Given the description of an element on the screen output the (x, y) to click on. 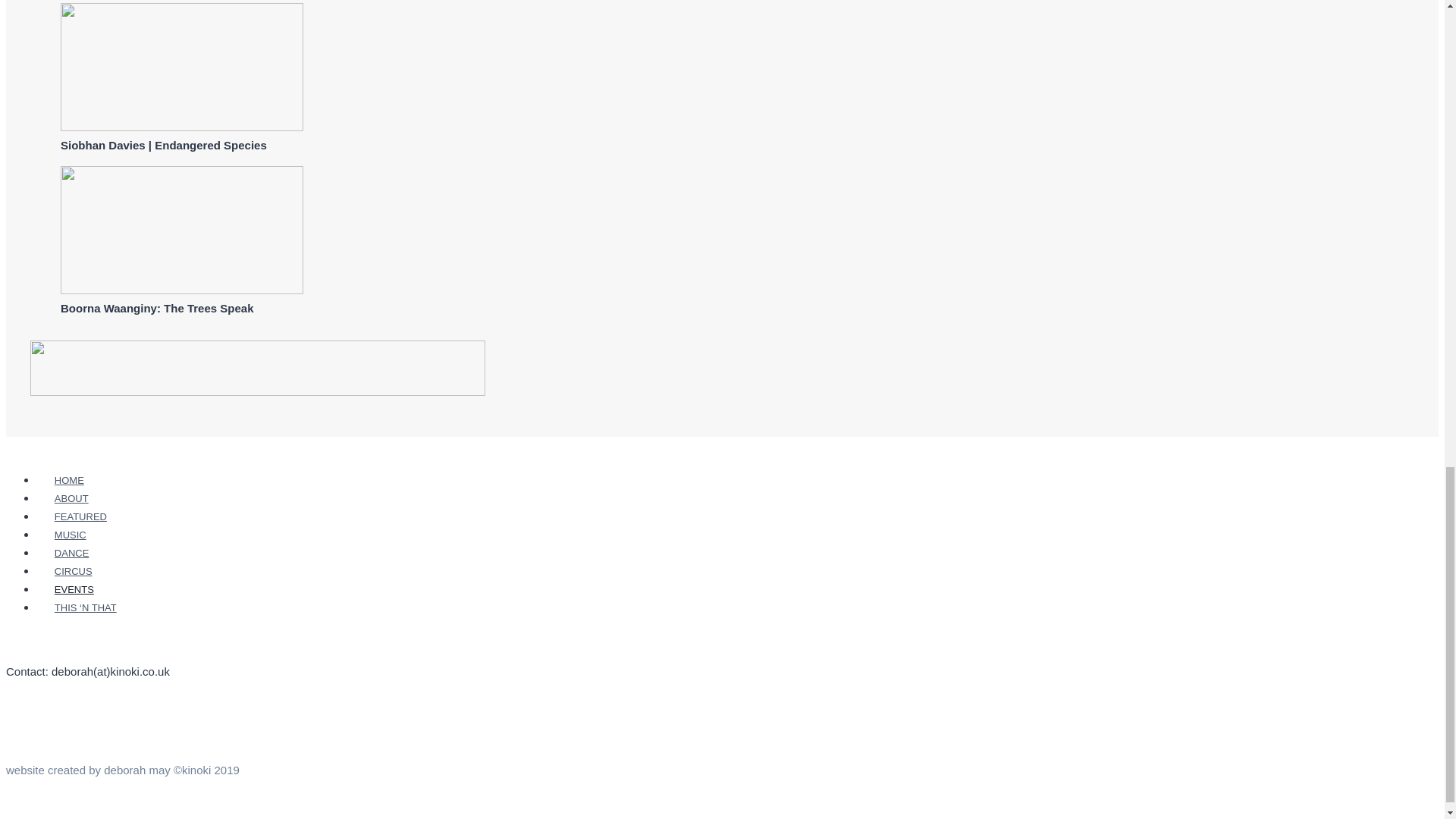
MUSIC (70, 534)
HOME (68, 479)
CIRCUS (73, 570)
ABOUT (71, 497)
DANCE (71, 552)
EVENTS (74, 589)
FEATURED (80, 516)
